Given the description of an element on the screen output the (x, y) to click on. 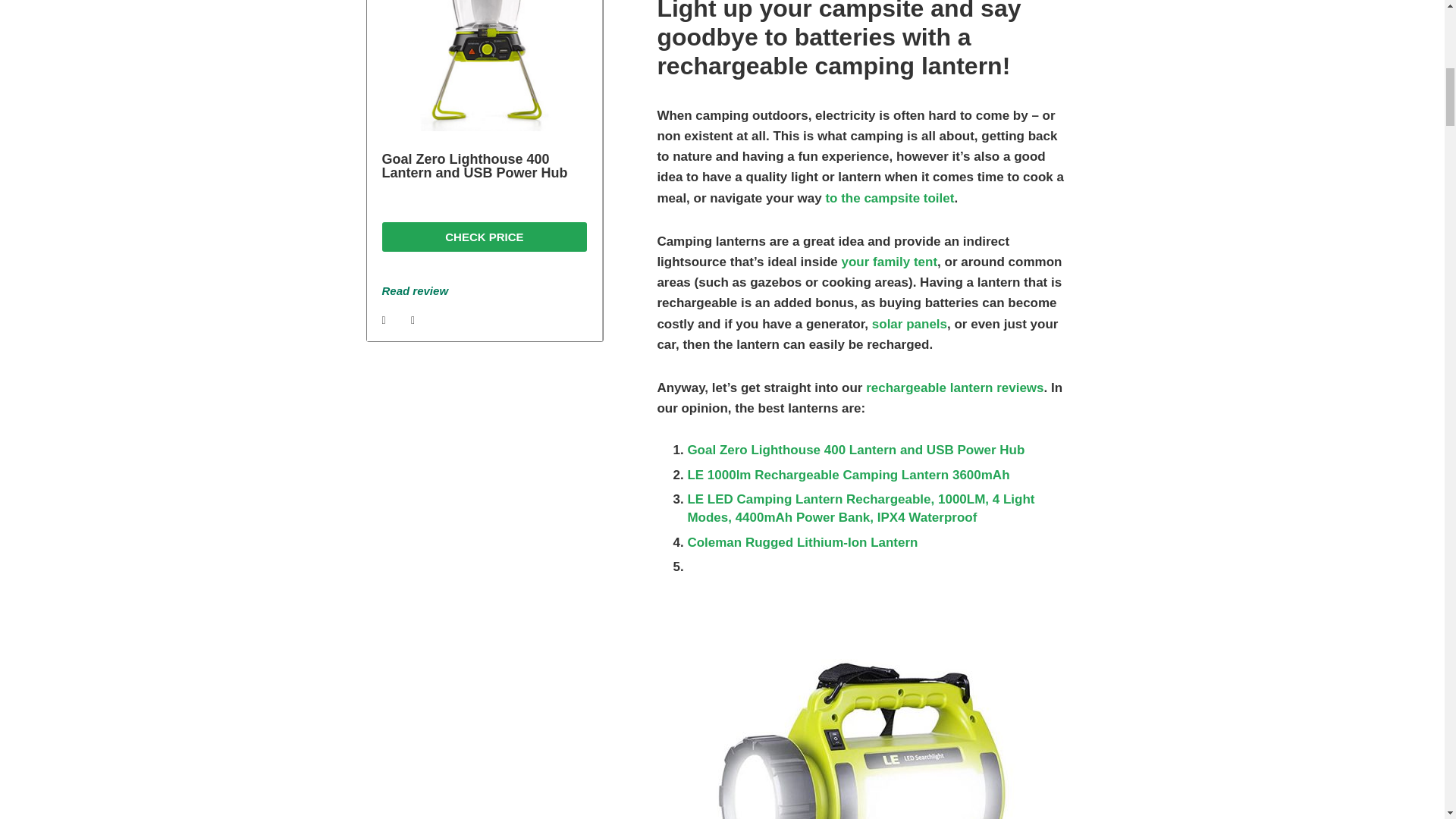
LE-1000-Lumen-Rechargeable-Camping-Lantern-large (862, 739)
